Given the description of an element on the screen output the (x, y) to click on. 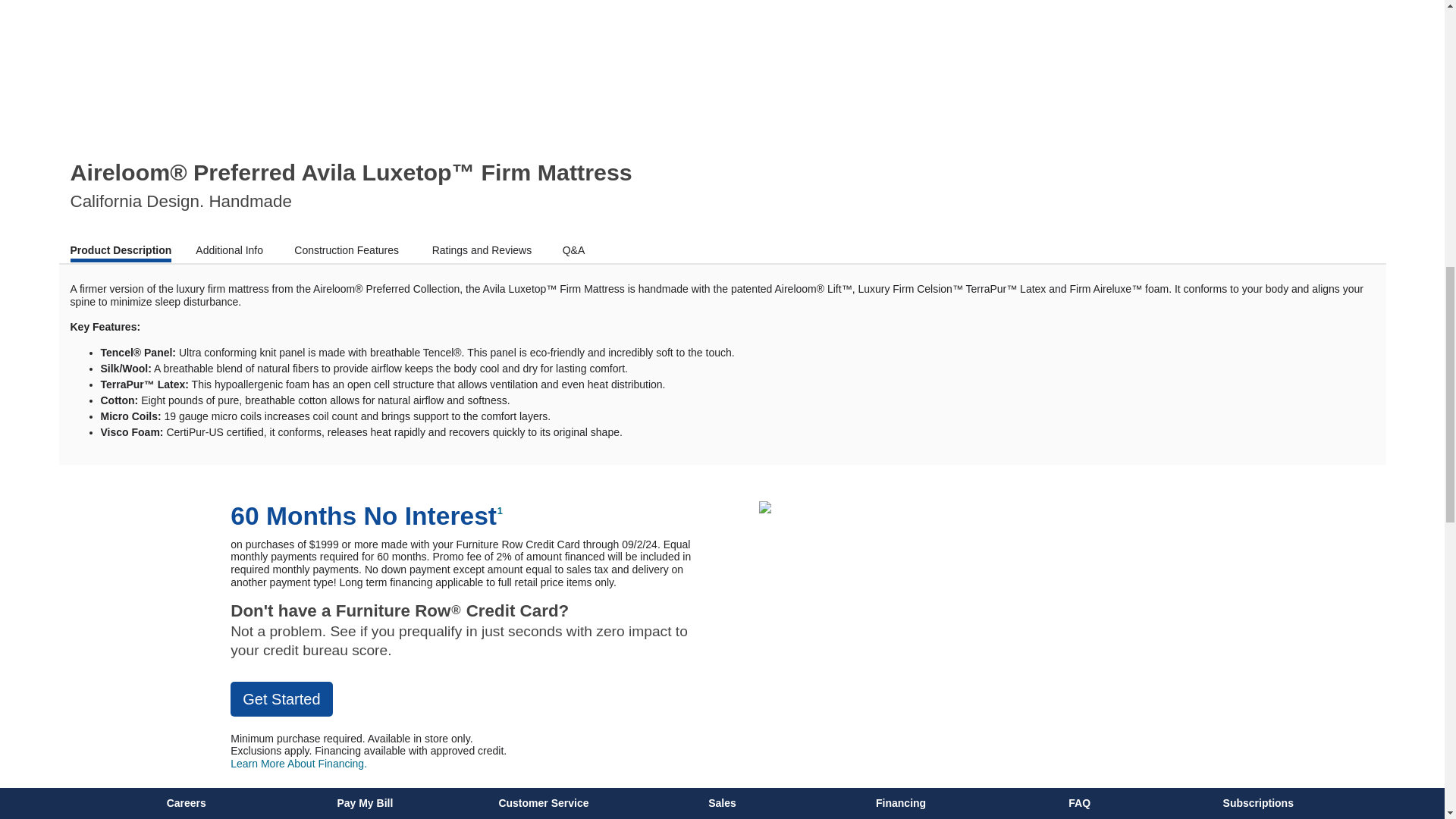
Construction Features (350, 250)
Product Description (120, 252)
Additional Info (232, 250)
Ratings and Reviews (485, 250)
